Given the description of an element on the screen output the (x, y) to click on. 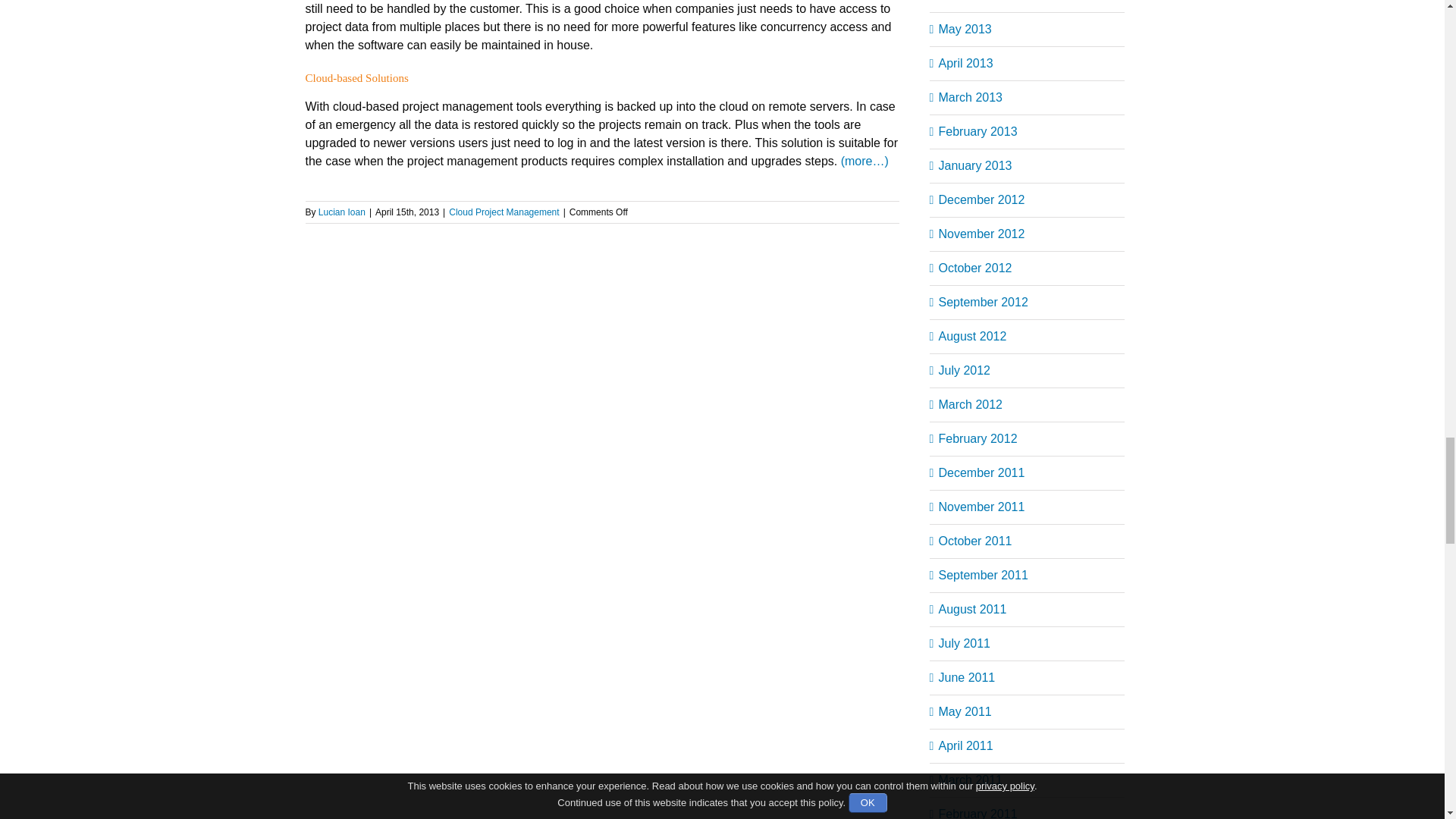
Posts by Lucian Ioan (341, 212)
